Given the description of an element on the screen output the (x, y) to click on. 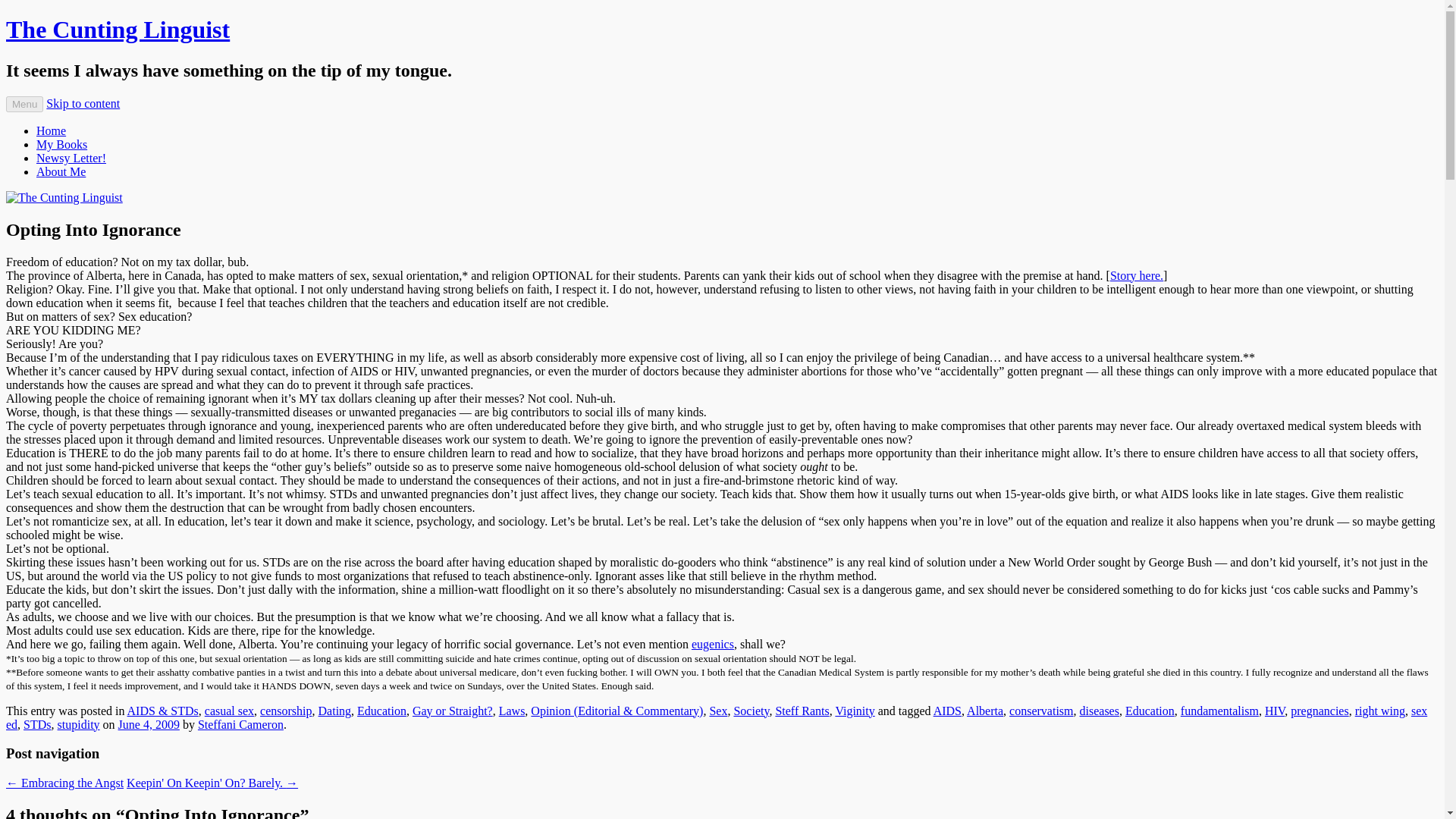
Newsy Letter! (71, 157)
fundamentalism (1219, 710)
Menu (24, 104)
sex ed (715, 717)
Society (750, 710)
casual sex (229, 710)
View all posts by Steffani Cameron (240, 724)
Gay or Straight? (452, 710)
Skip to content (82, 103)
About Me (60, 171)
Dating (335, 710)
pregnancies (1319, 710)
Education (1149, 710)
The Cunting Linguist (117, 29)
eugenics (712, 644)
